Given the description of an element on the screen output the (x, y) to click on. 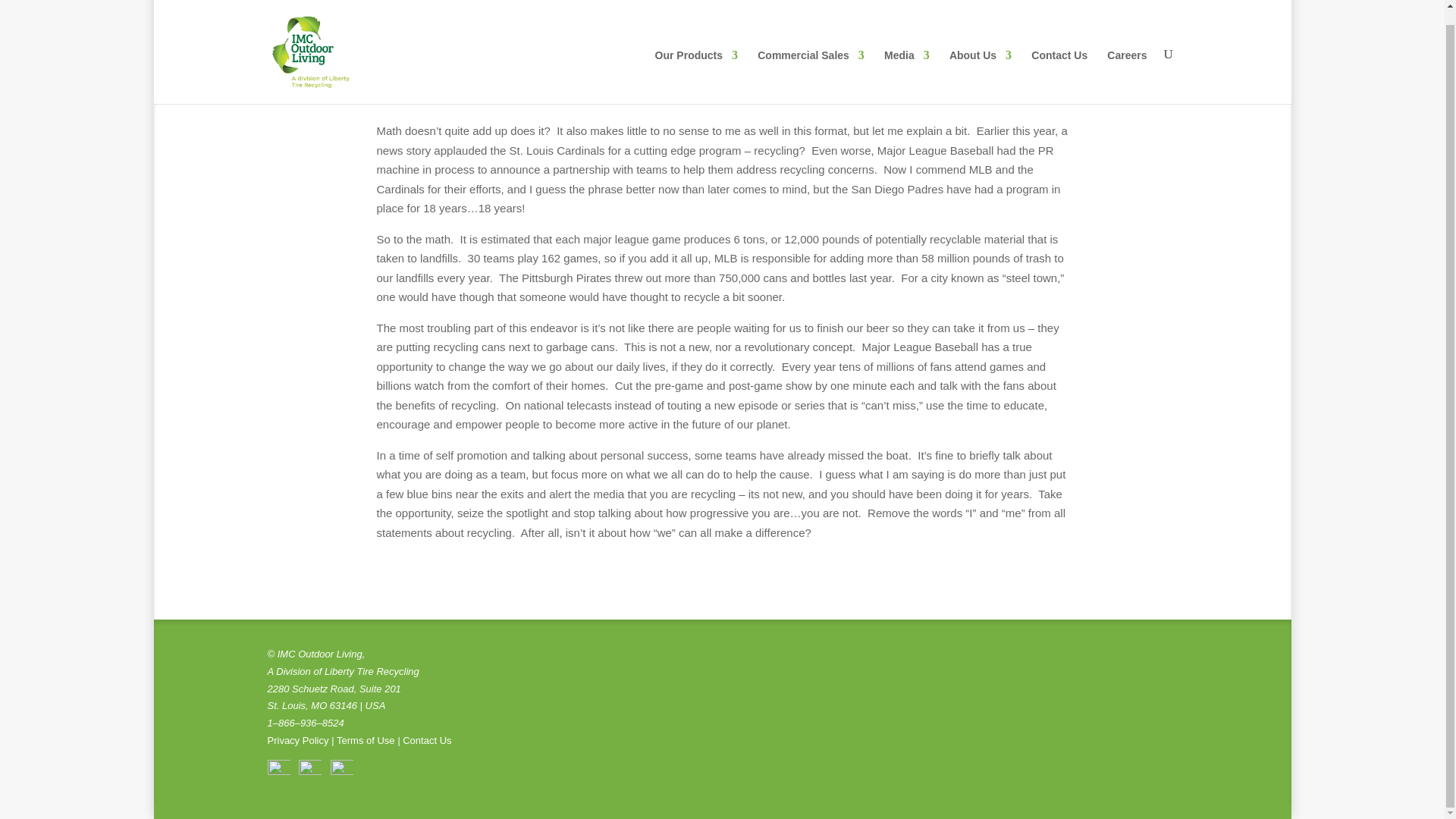
About Us (980, 62)
Contact Us (427, 740)
Contact Us (1058, 62)
0 comments (603, 83)
Privacy Policy (297, 740)
Terms of Use (365, 740)
Commercial Sales (810, 62)
Our Products (696, 62)
Mike Sebastian (426, 83)
Blog (555, 83)
